Given the description of an element on the screen output the (x, y) to click on. 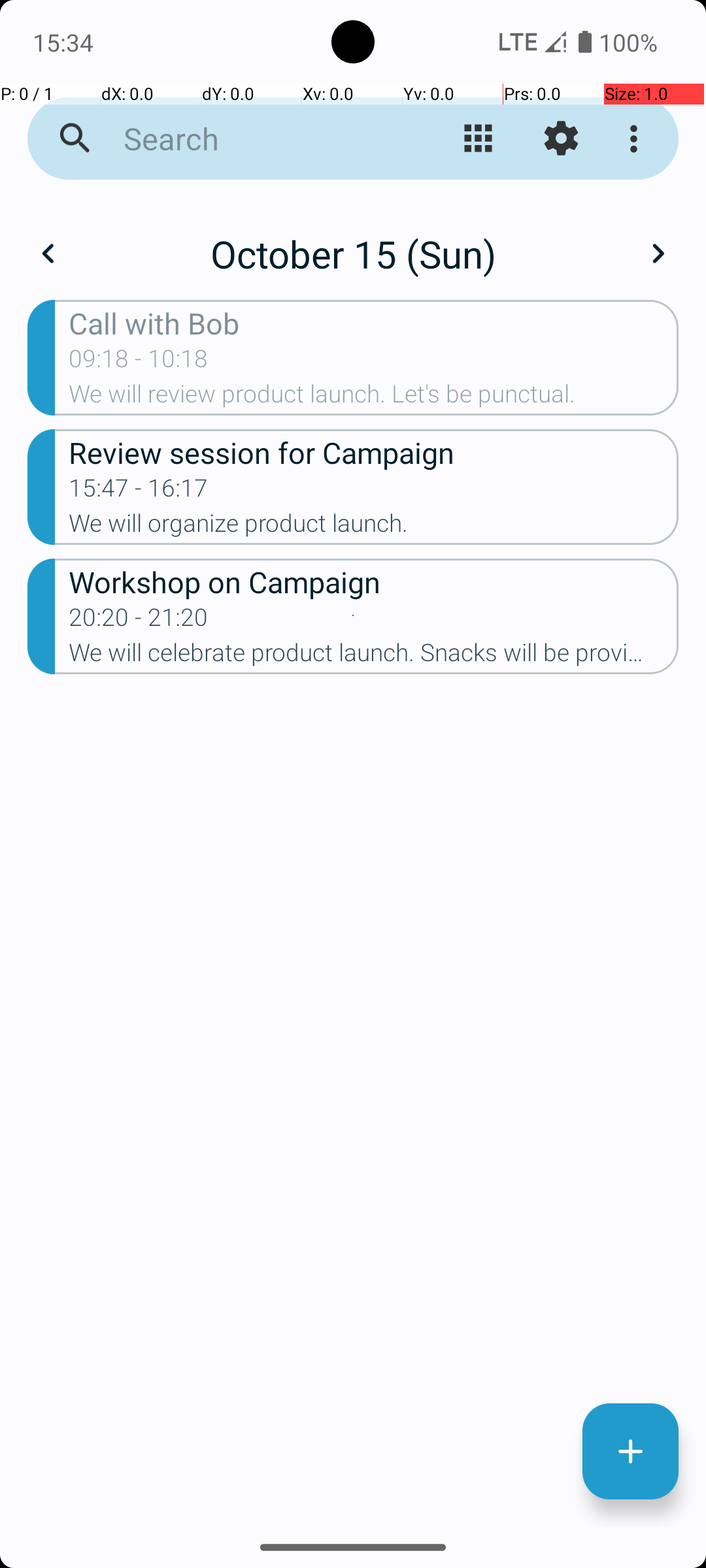
Call with Bob Element type: android.widget.TextView (373, 321)
09:18 - 10:18 Element type: android.widget.TextView (137, 362)
We will review product launch. Let's be punctual. Element type: android.widget.TextView (373, 397)
15:47 - 16:17 Element type: android.widget.TextView (137, 491)
We will organize product launch. Element type: android.widget.TextView (373, 526)
20:20 - 21:20 Element type: android.widget.TextView (137, 620)
We will celebrate product launch. Snacks will be provided. Element type: android.widget.TextView (373, 656)
